Given the description of an element on the screen output the (x, y) to click on. 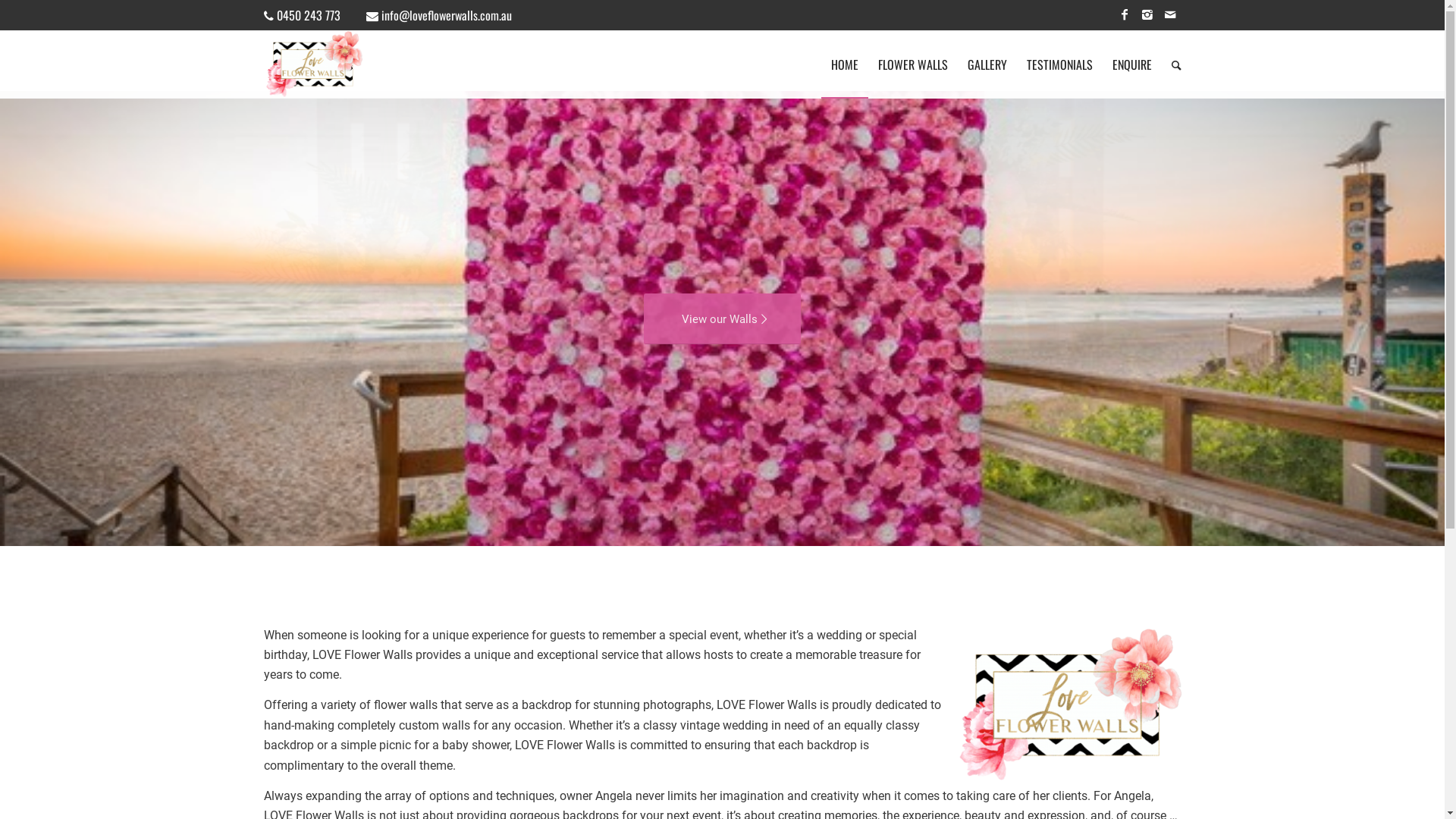
Facebook Element type: hover (1124, 15)
FLOWER WALLS Element type: text (912, 64)
TESTIMONIALS Element type: text (1058, 64)
Instagram Element type: hover (1146, 15)
Mail Element type: hover (1169, 15)
HOME Element type: text (843, 64)
GALLERY Element type: text (986, 64)
View our Walls Element type: text (721, 317)
ENQUIRE Element type: text (1131, 64)
